Given the description of an element on the screen output the (x, y) to click on. 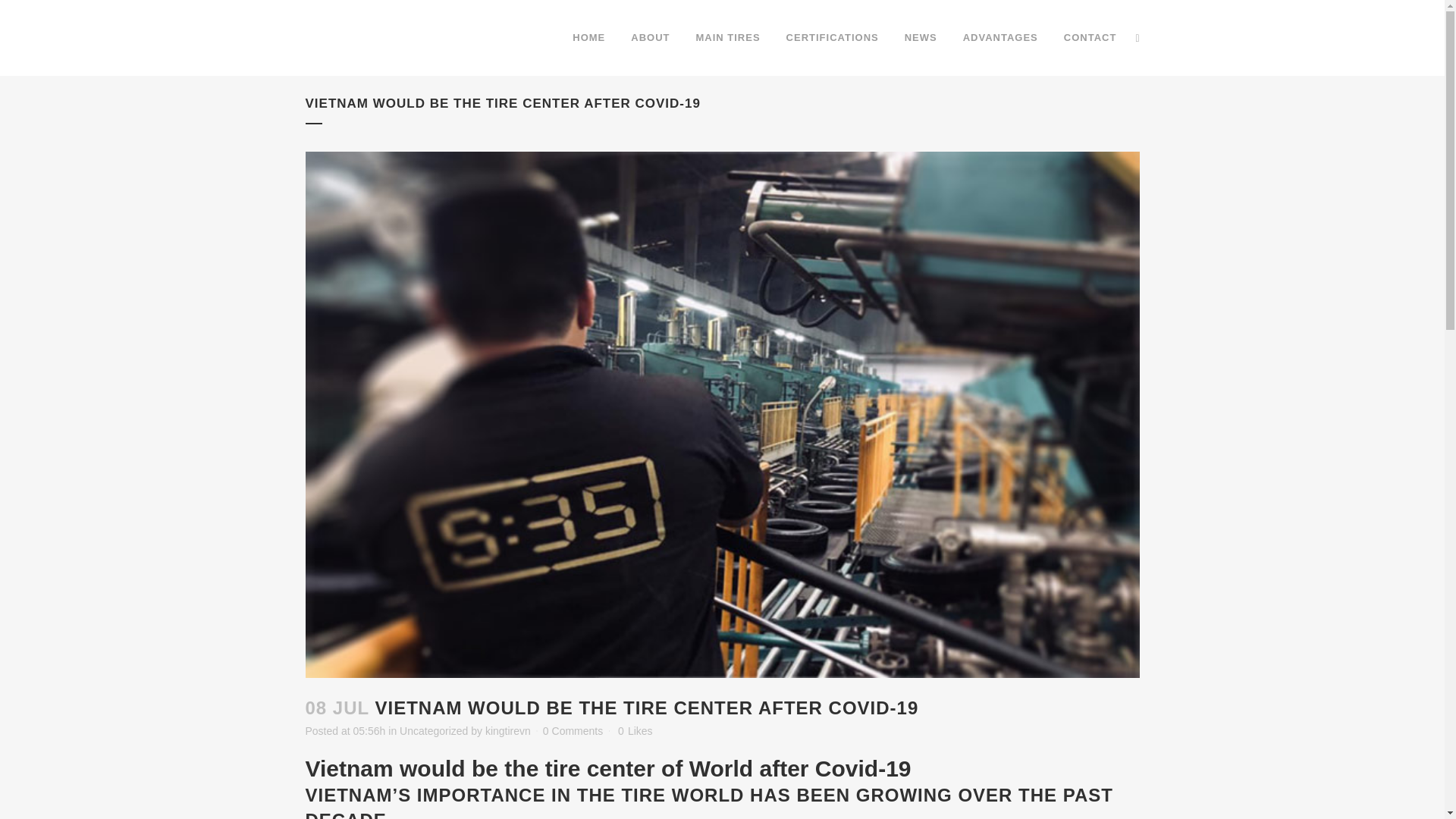
ADVANTAGES (1000, 38)
CONTACT (1090, 38)
CERTIFICATIONS (832, 38)
kingtirevn (507, 730)
Uncategorized (432, 730)
Like this (634, 730)
0 Comments (572, 730)
0 Likes (634, 730)
MAIN TIRES (727, 38)
